Given the description of an element on the screen output the (x, y) to click on. 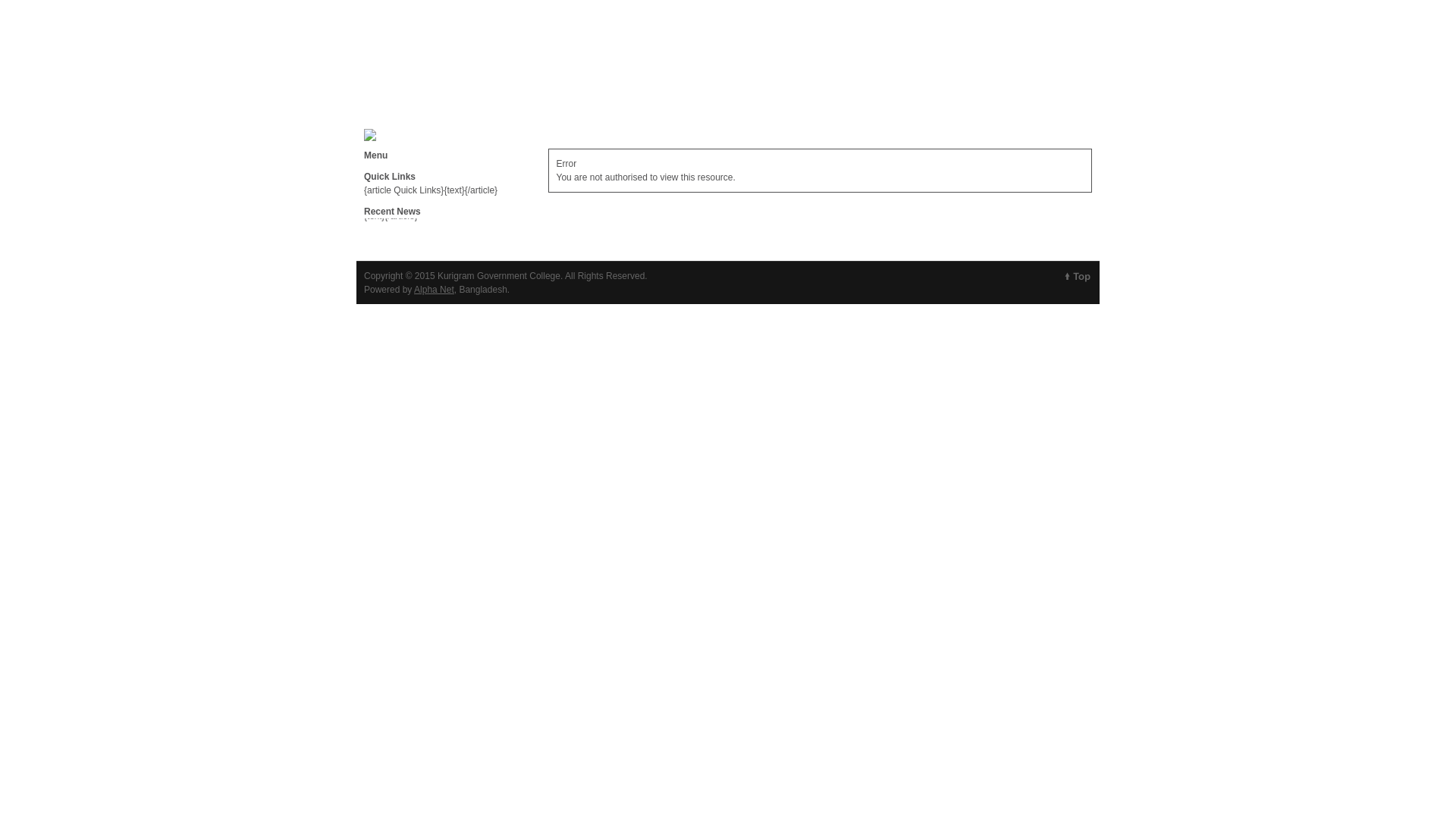
Alpha Net, Element type: text (435, 289)
Kurigram Government Women's College Element type: hover (723, 71)
Scroll to Top Element type: text (1077, 276)
